Given the description of an element on the screen output the (x, y) to click on. 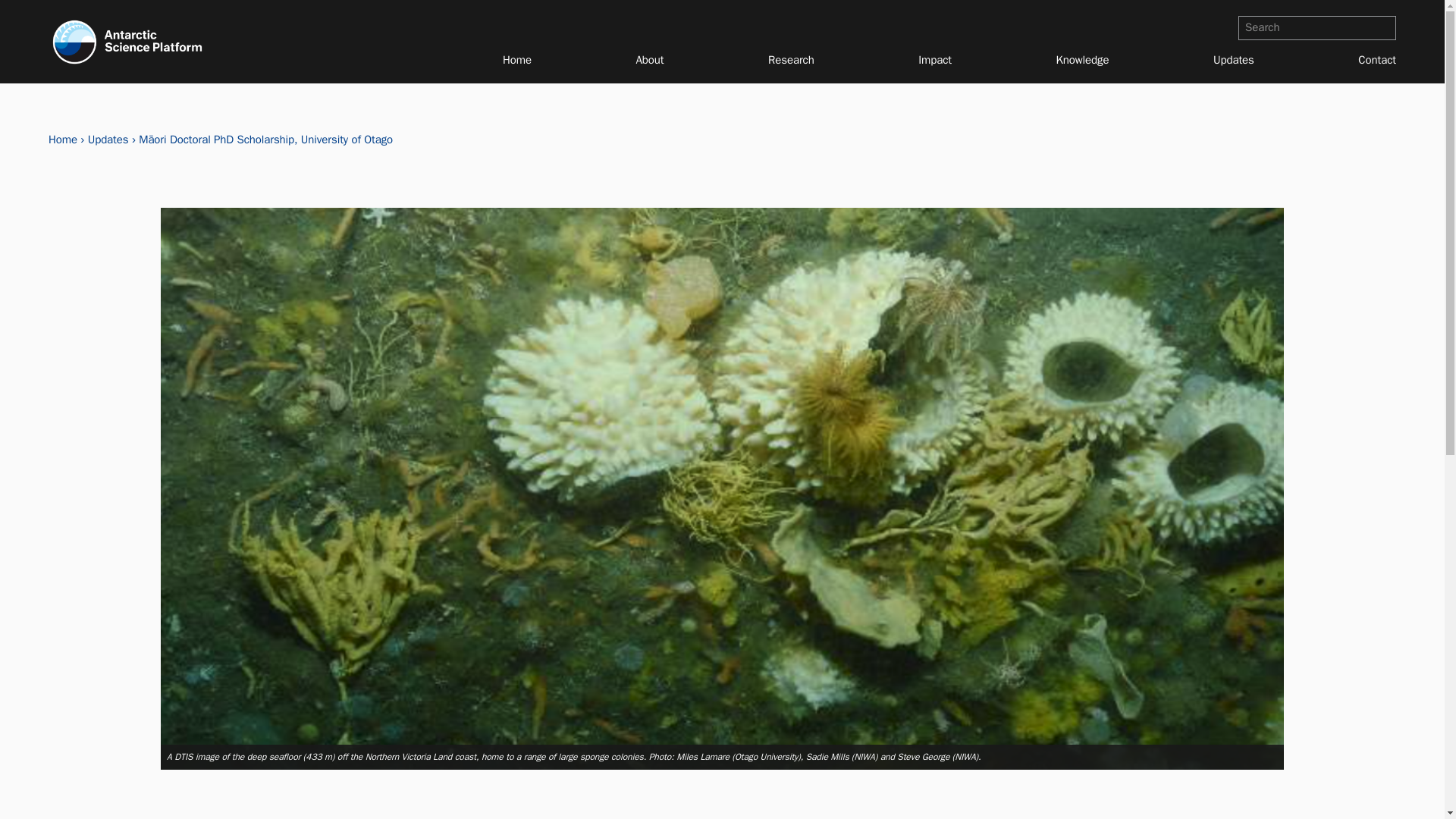
Research (790, 59)
Knowledge (1083, 59)
Impact (935, 59)
Updates (1232, 59)
About (649, 59)
Contact (1377, 59)
Home (516, 59)
